Given the description of an element on the screen output the (x, y) to click on. 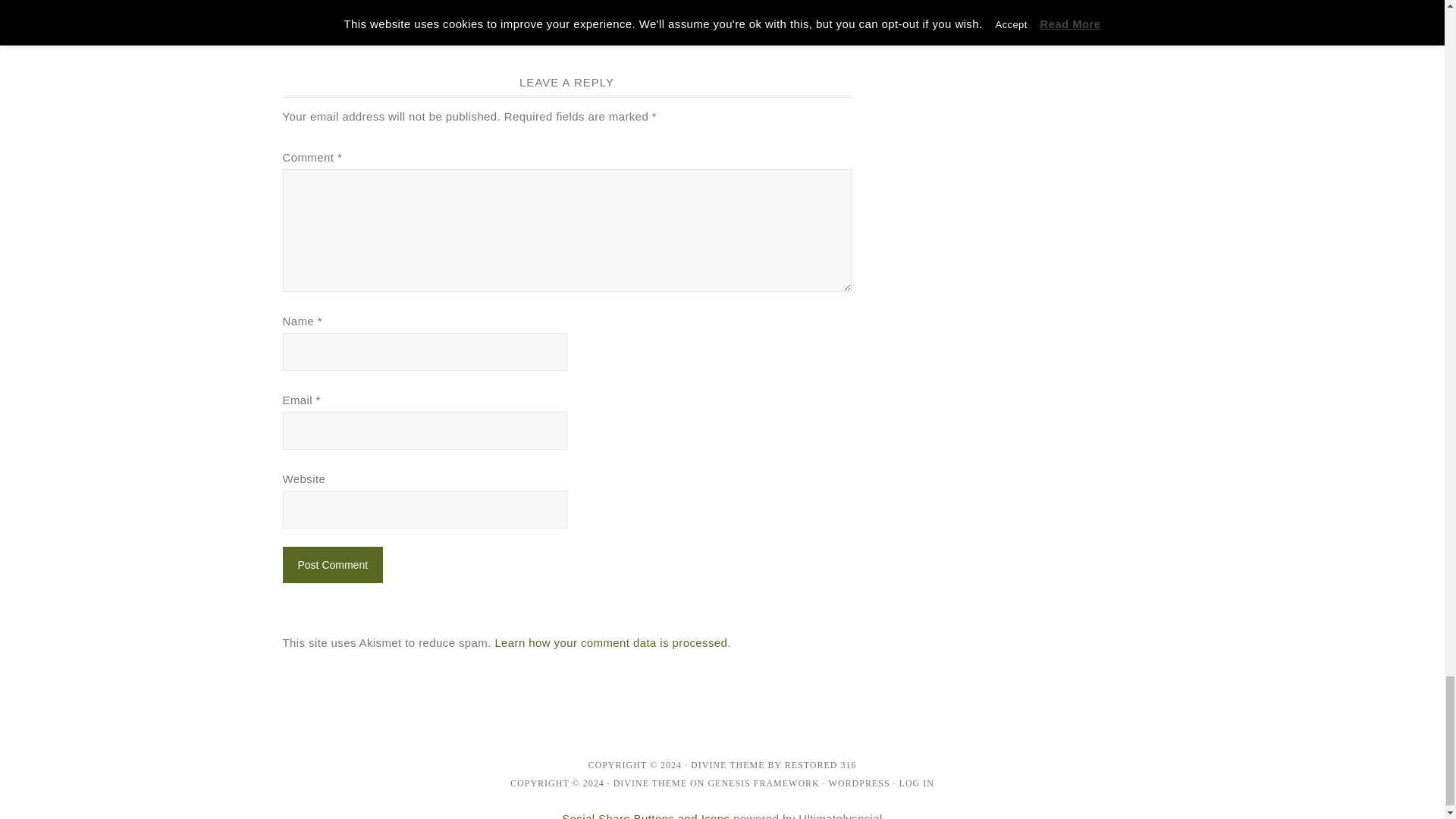
RESTORED 316 (820, 765)
WORDPRESS (858, 783)
Learn how your comment data is processed (610, 642)
DIVINE THEME (727, 765)
LOG IN (916, 783)
Post Comment (332, 565)
DIVINE THEME (649, 783)
Post Comment (332, 565)
GENESIS FRAMEWORK (762, 783)
